Given the description of an element on the screen output the (x, y) to click on. 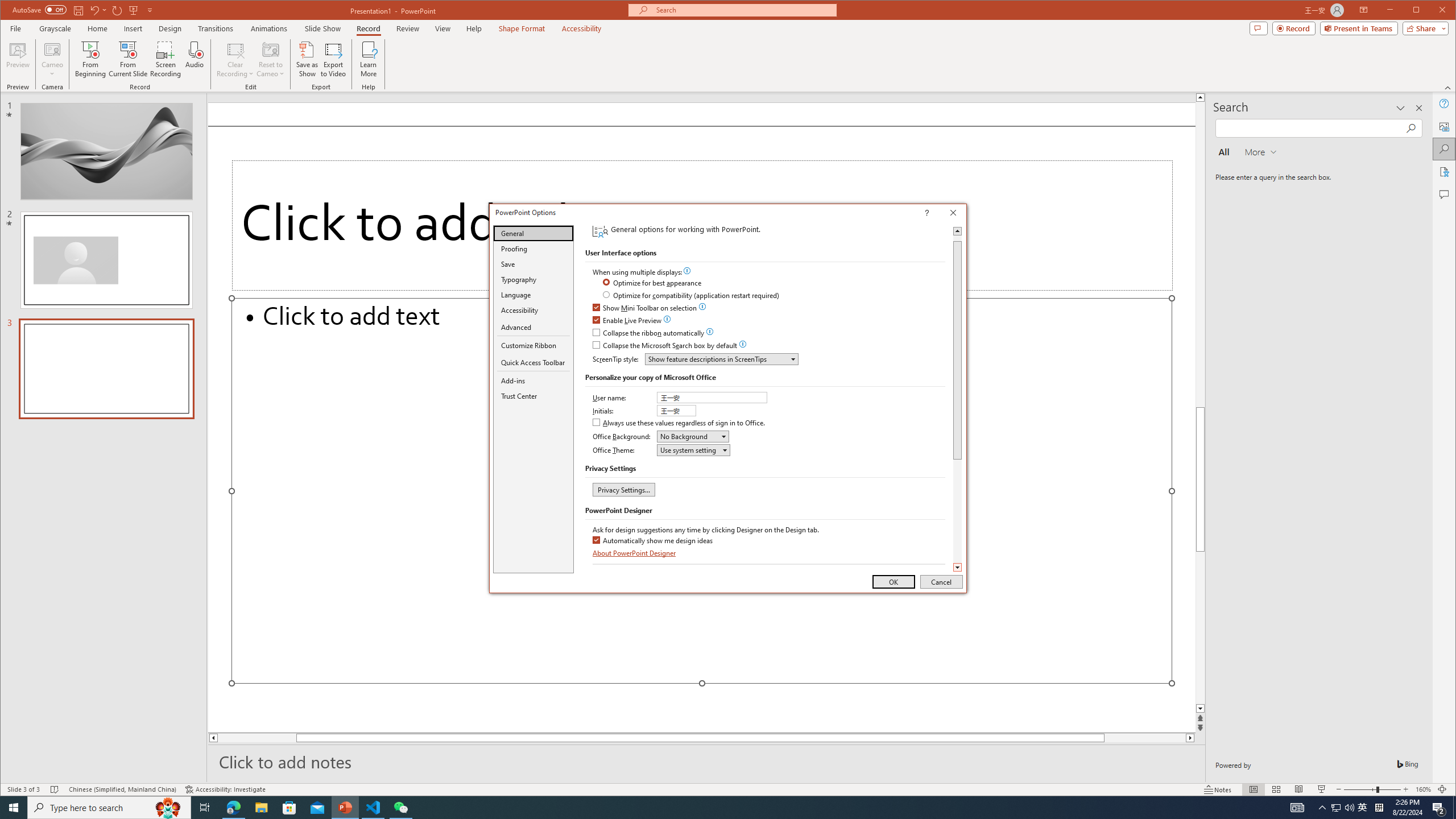
Zoom 160% (1422, 789)
Show Mini Toolbar on selection (645, 308)
Screen Recording (165, 59)
Grayscale (55, 28)
Cancel (941, 581)
Trust Center (533, 395)
ScreenTip style (721, 358)
